Given the description of an element on the screen output the (x, y) to click on. 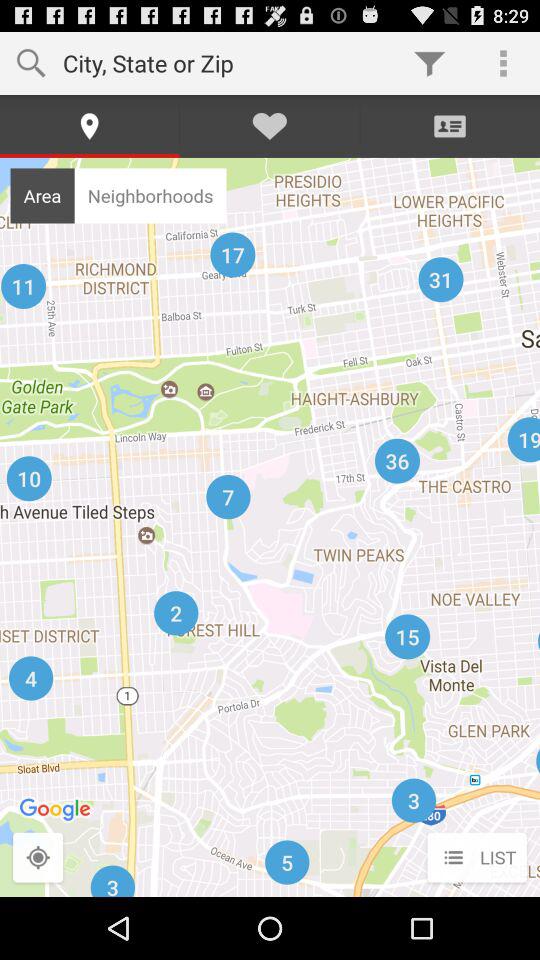
flip to the neighborhoods (150, 195)
